Given the description of an element on the screen output the (x, y) to click on. 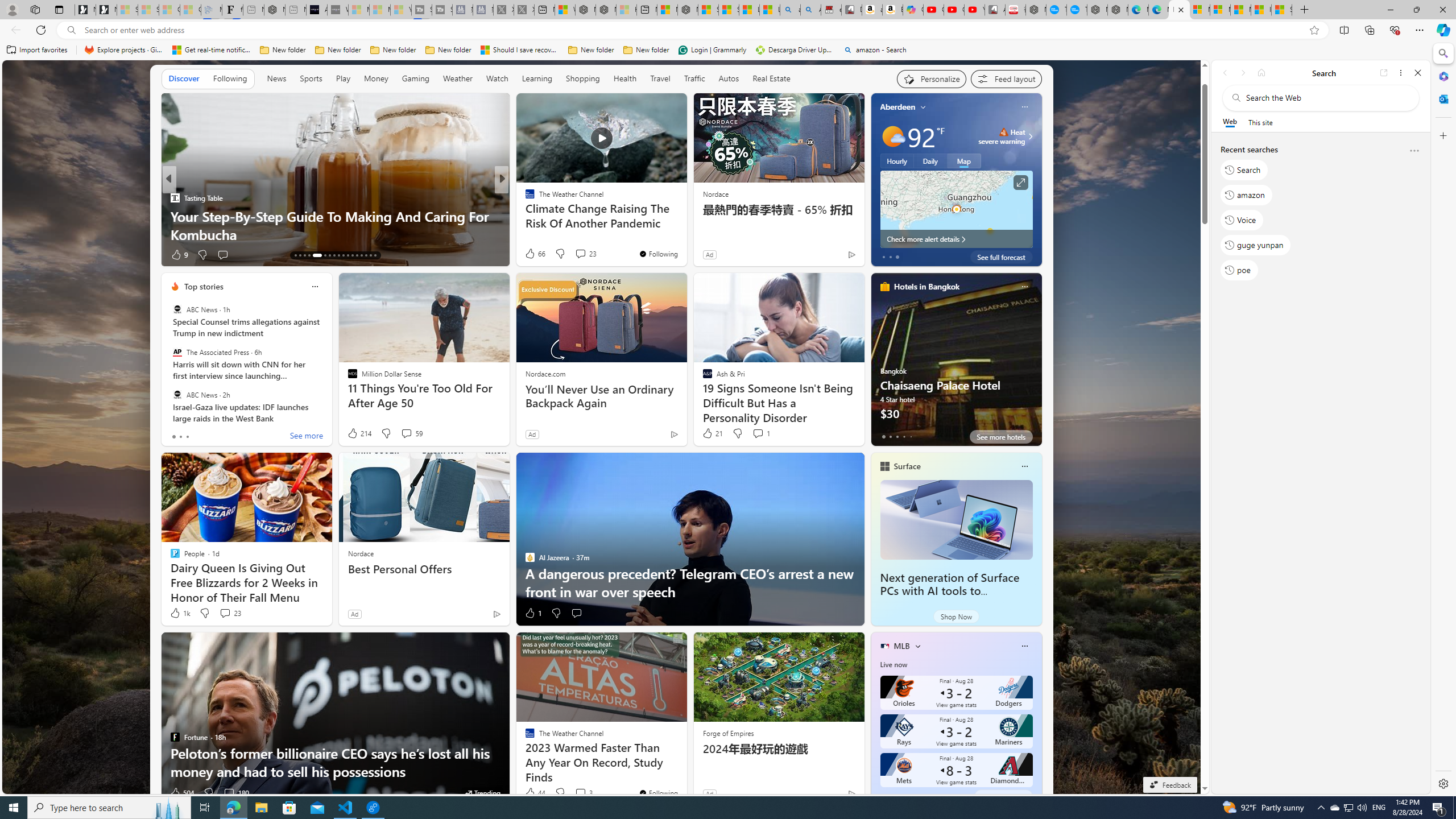
MLB (901, 646)
View comments 180 Comment (228, 792)
Mostly sunny (892, 136)
View comments 124 Comment (587, 254)
66 Like (534, 253)
